Given the description of an element on the screen output the (x, y) to click on. 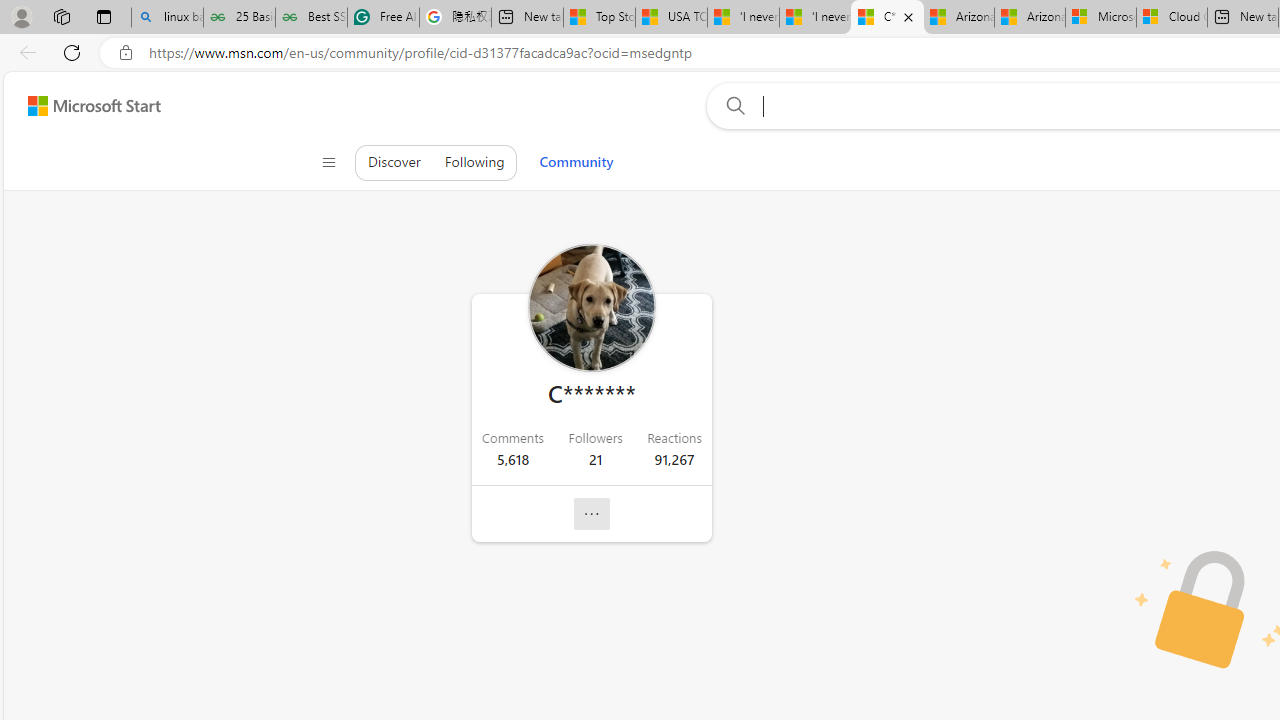
Community (576, 162)
Community (576, 161)
Report profile (591, 513)
USA TODAY - MSN (671, 17)
